Given the description of an element on the screen output the (x, y) to click on. 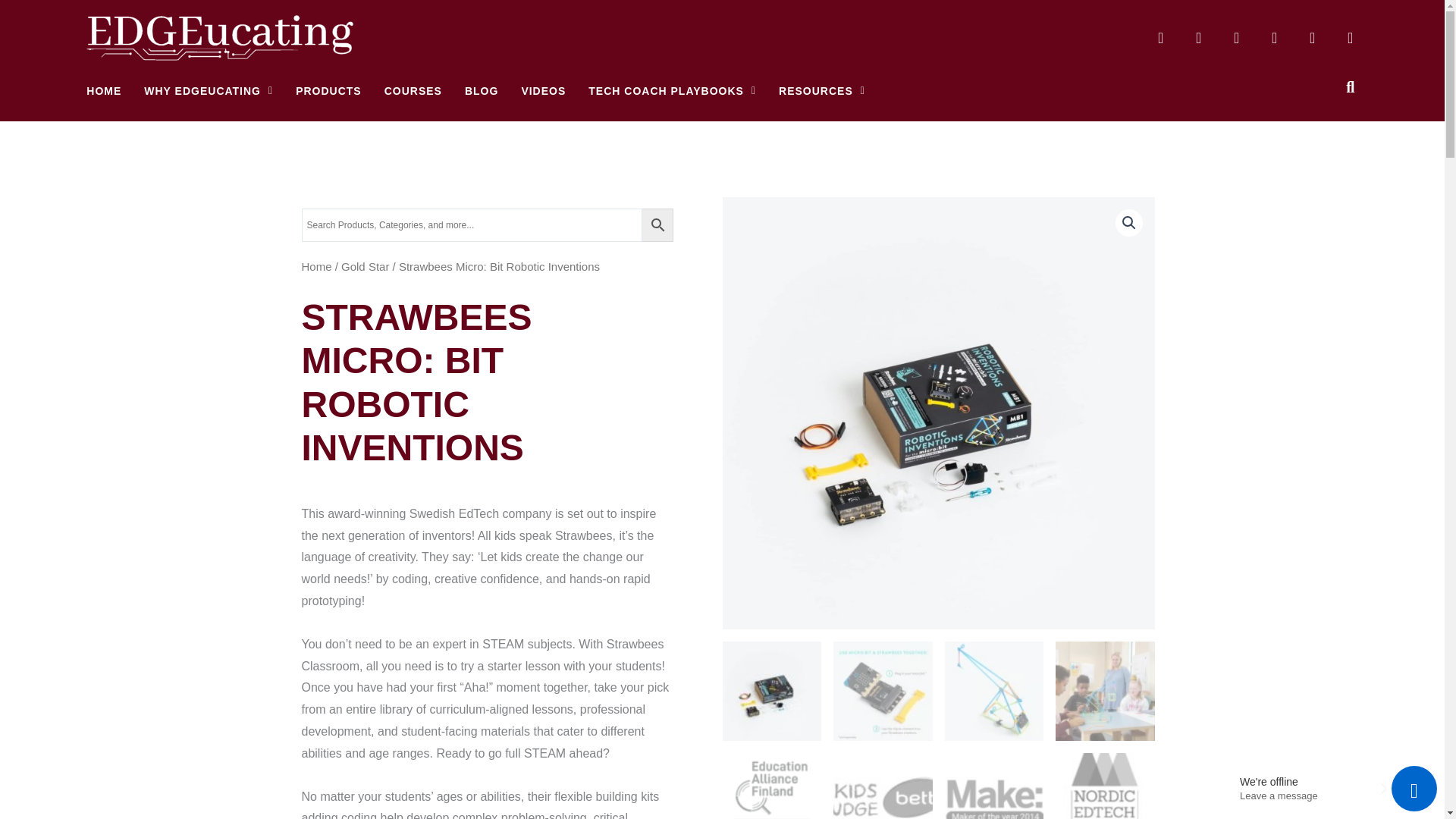
Pinterest (1199, 37)
Linkedin-in (1274, 37)
RESOURCES (821, 91)
We're offline (1304, 781)
BLOG (480, 91)
VIDEOS (543, 91)
Leave a message (1304, 795)
COURSES (413, 91)
Instagram (1350, 37)
WHY EDGEUCATING (208, 91)
PRODUCTS (328, 91)
HOME (102, 91)
Facebook-f (1236, 37)
Youtube (1161, 37)
Twitter (1312, 37)
